Given the description of an element on the screen output the (x, y) to click on. 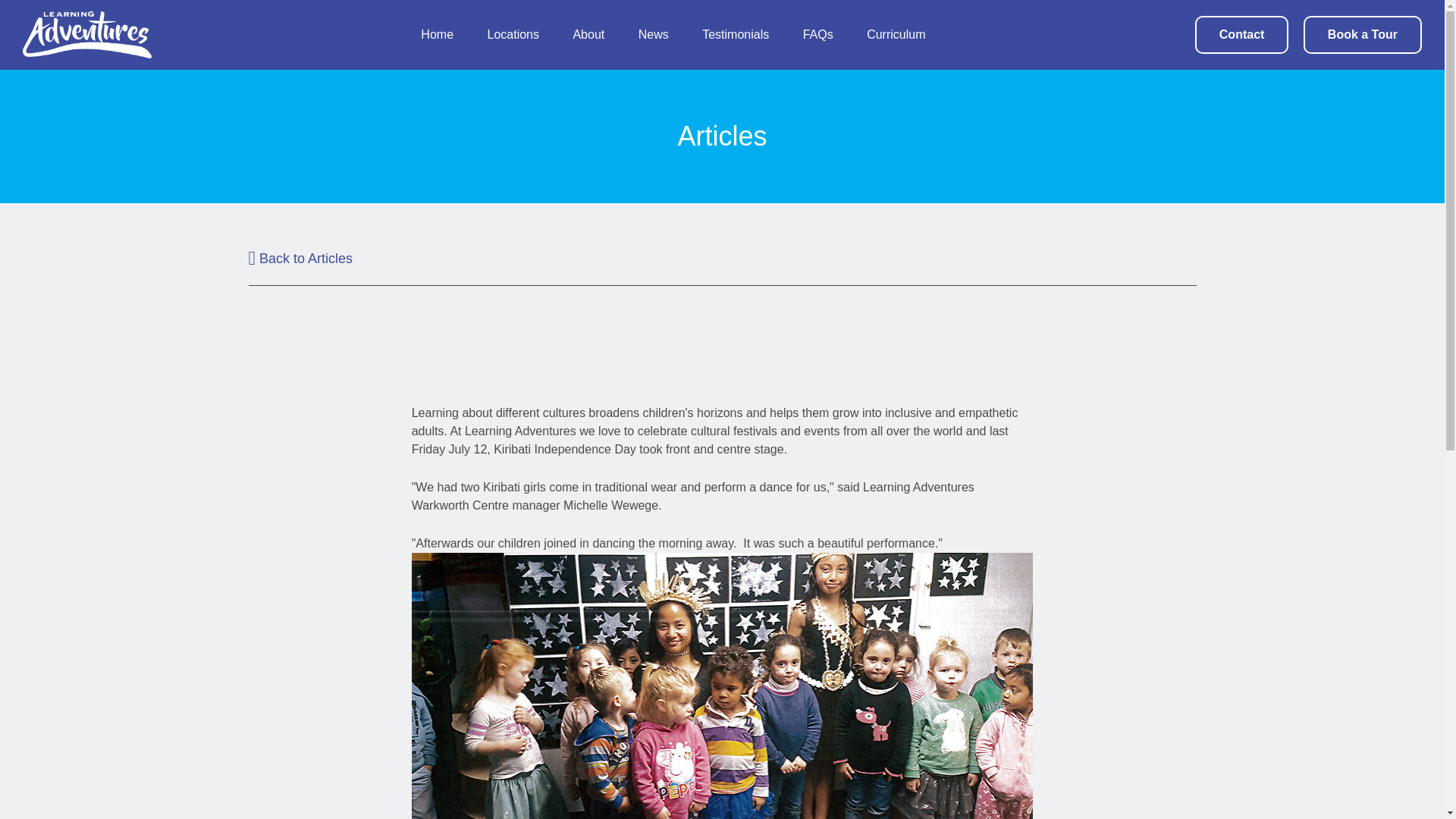
Learning Adventures Home (436, 33)
Home (436, 33)
Locations (512, 33)
FAQs (817, 33)
Back to Articles (300, 258)
Book a Tour (1362, 34)
Learning Adventures FAQs (817, 33)
News (653, 33)
Learning Adventures Locations (512, 33)
Learning Adventures Homepage (87, 34)
Testimonials (734, 33)
Learning Adventures News (653, 33)
Learning Adventures Testimonials (734, 33)
Learning Adventures Curriculum (895, 33)
Curriculum (895, 33)
